Given the description of an element on the screen output the (x, y) to click on. 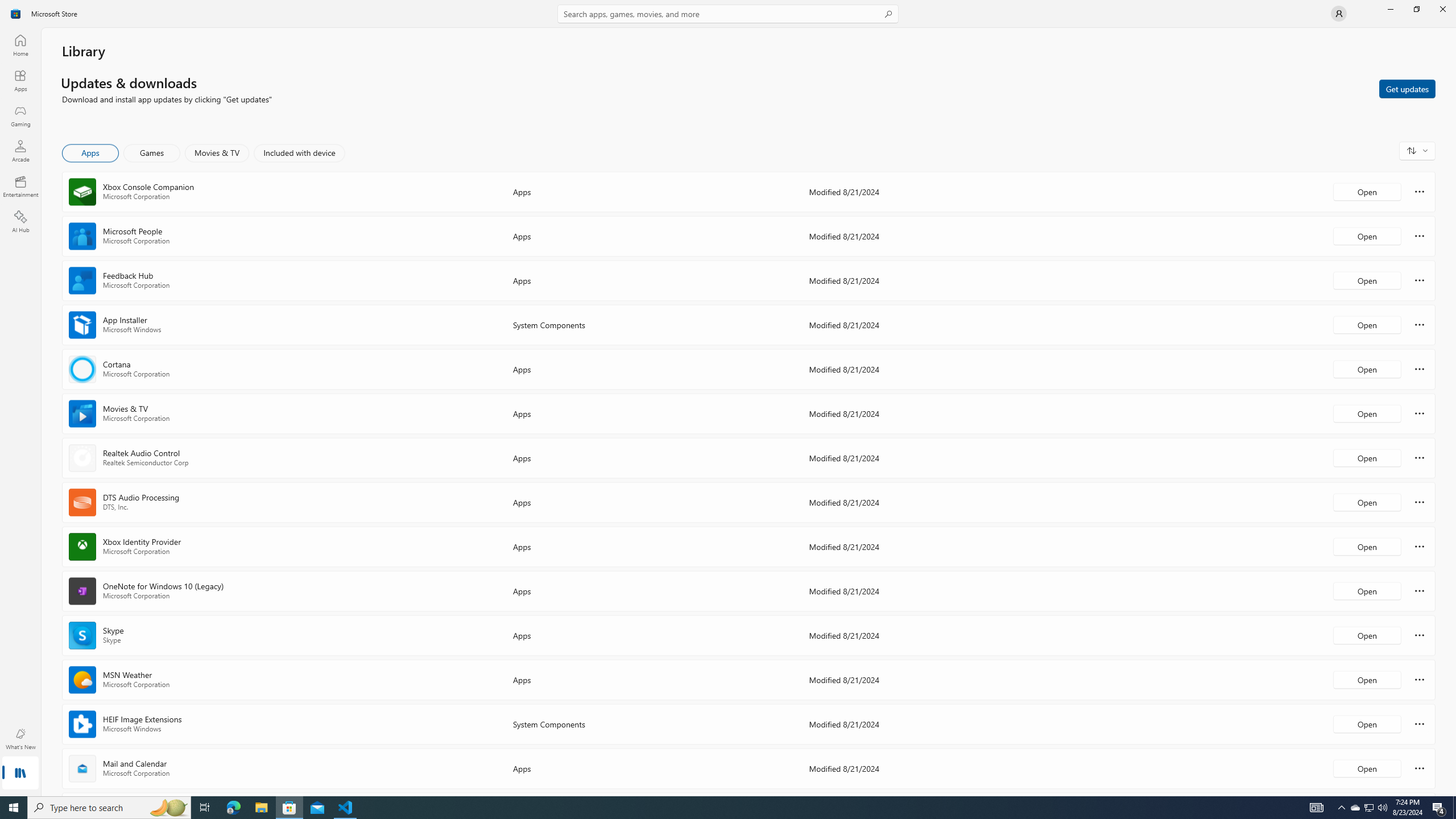
Apps (20, 80)
Games (151, 153)
What's New (20, 738)
Entertainment (20, 185)
Search (727, 13)
Class: Image (15, 13)
Gaming (20, 115)
Library (20, 773)
